Given the description of an element on the screen output the (x, y) to click on. 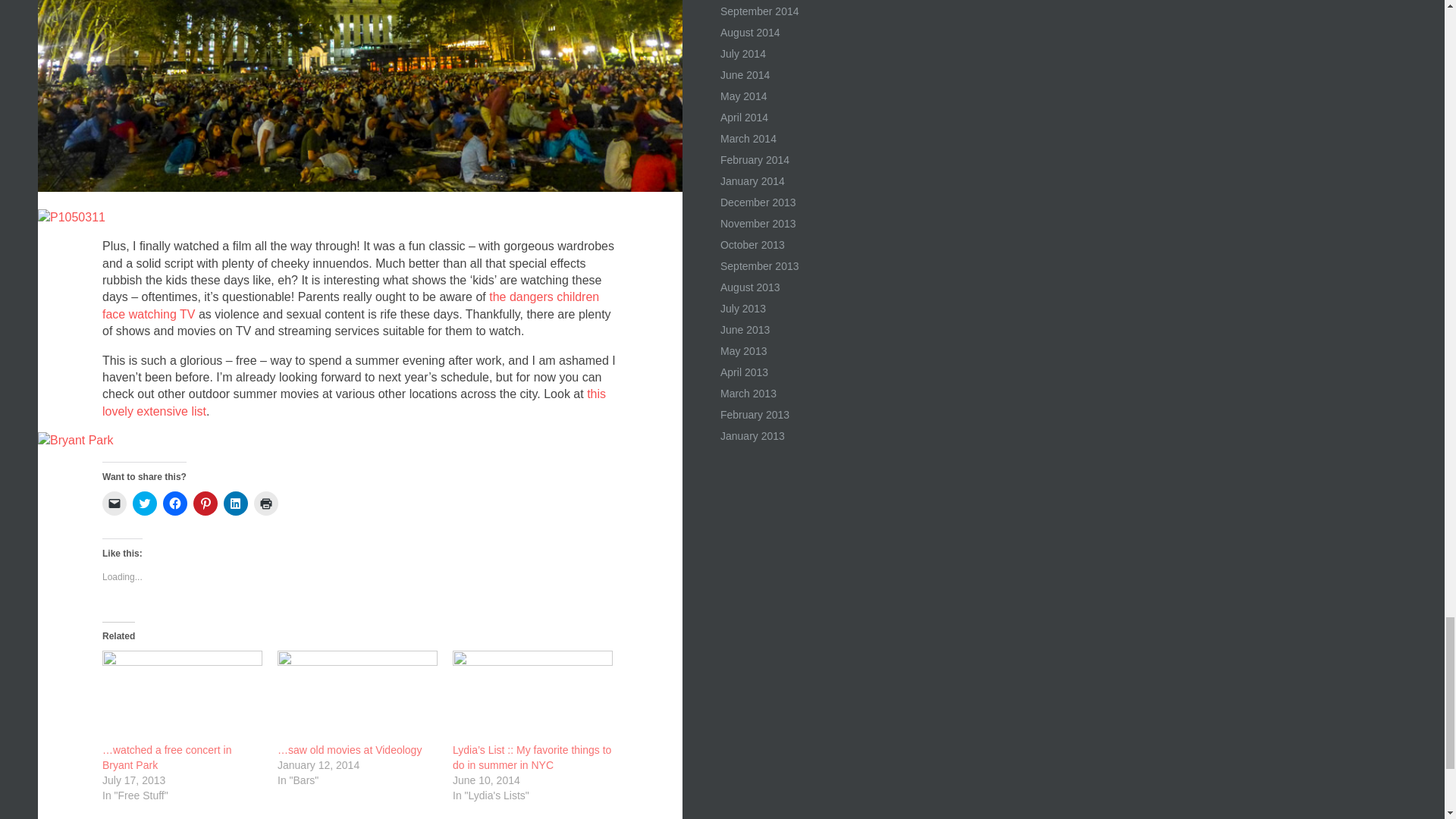
Click to share on LinkedIn (235, 503)
Click to share on Twitter (144, 503)
this lovely extensive list (353, 401)
Click to share on Pinterest (204, 503)
Click to print (265, 503)
Click to share on Facebook (175, 503)
the dangers children face watching TV (349, 305)
Click to email a link to a friend (113, 503)
